Given the description of an element on the screen output the (x, y) to click on. 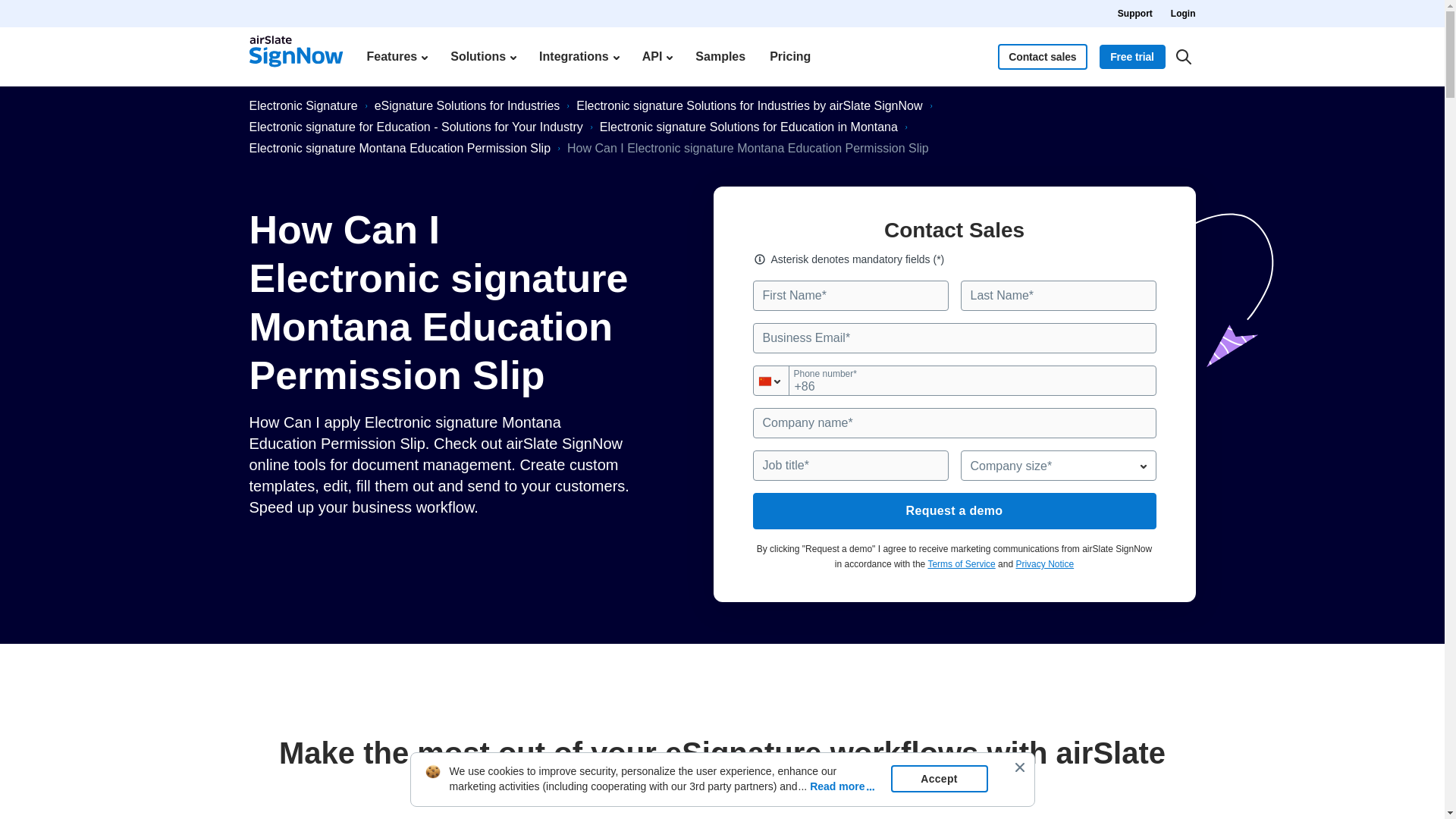
Solutions (482, 56)
Login (1182, 13)
Features (396, 56)
Search (1182, 56)
Support (1135, 13)
signNow (295, 56)
Integrations (578, 56)
